Given the description of an element on the screen output the (x, y) to click on. 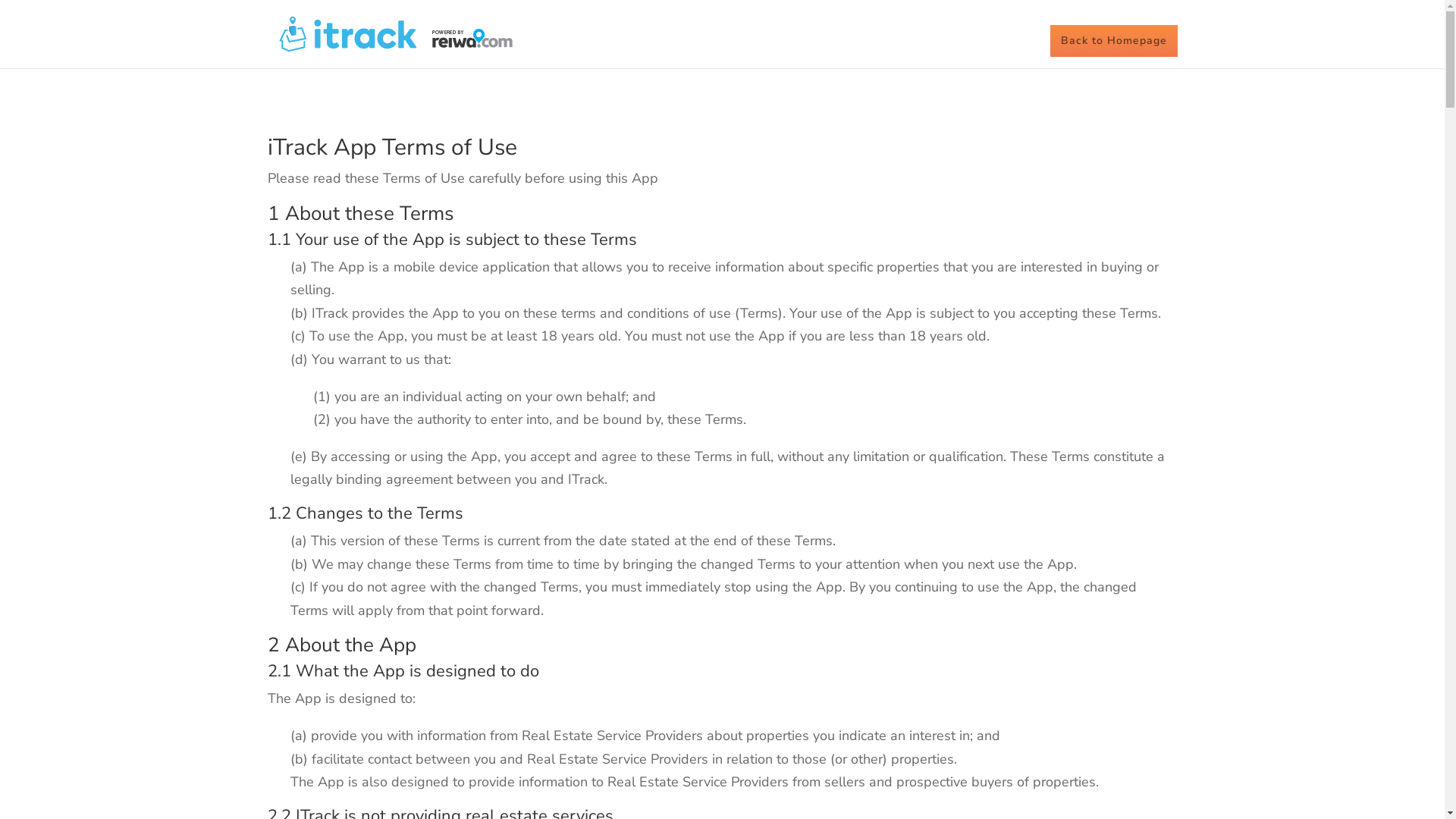
Back to Homepage Element type: text (1112, 40)
